Given the description of an element on the screen output the (x, y) to click on. 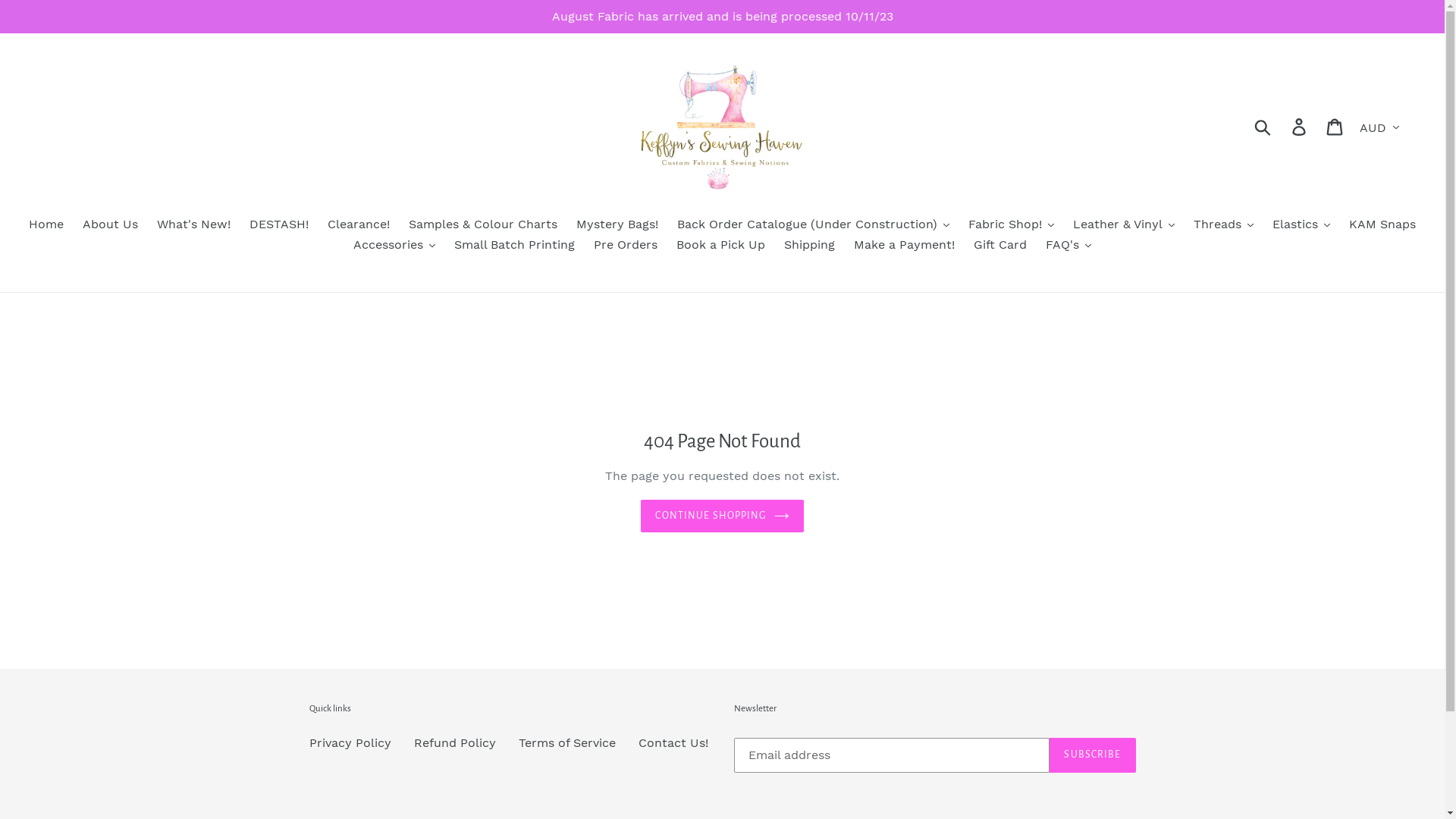
Home Element type: text (46, 225)
Terms of Service Element type: text (566, 742)
Privacy Policy Element type: text (350, 742)
What's New! Element type: text (193, 225)
SUBSCRIBE Element type: text (1092, 754)
Cart Element type: text (1335, 126)
Book a Pick Up Element type: text (720, 245)
Shipping Element type: text (809, 245)
Gift Card Element type: text (1000, 245)
Refund Policy Element type: text (454, 742)
Contact Us! Element type: text (673, 742)
Pre Orders Element type: text (625, 245)
KAM Snaps Element type: text (1382, 225)
DESTASH! Element type: text (278, 225)
Log in Element type: text (1299, 126)
Mystery Bags! Element type: text (616, 225)
Submit Element type: text (1263, 125)
Small Batch Printing Element type: text (514, 245)
CONTINUE SHOPPING Element type: text (721, 515)
Clearance! Element type: text (358, 225)
About Us Element type: text (110, 225)
Samples & Colour Charts Element type: text (482, 225)
Make a Payment! Element type: text (904, 245)
